Given the description of an element on the screen output the (x, y) to click on. 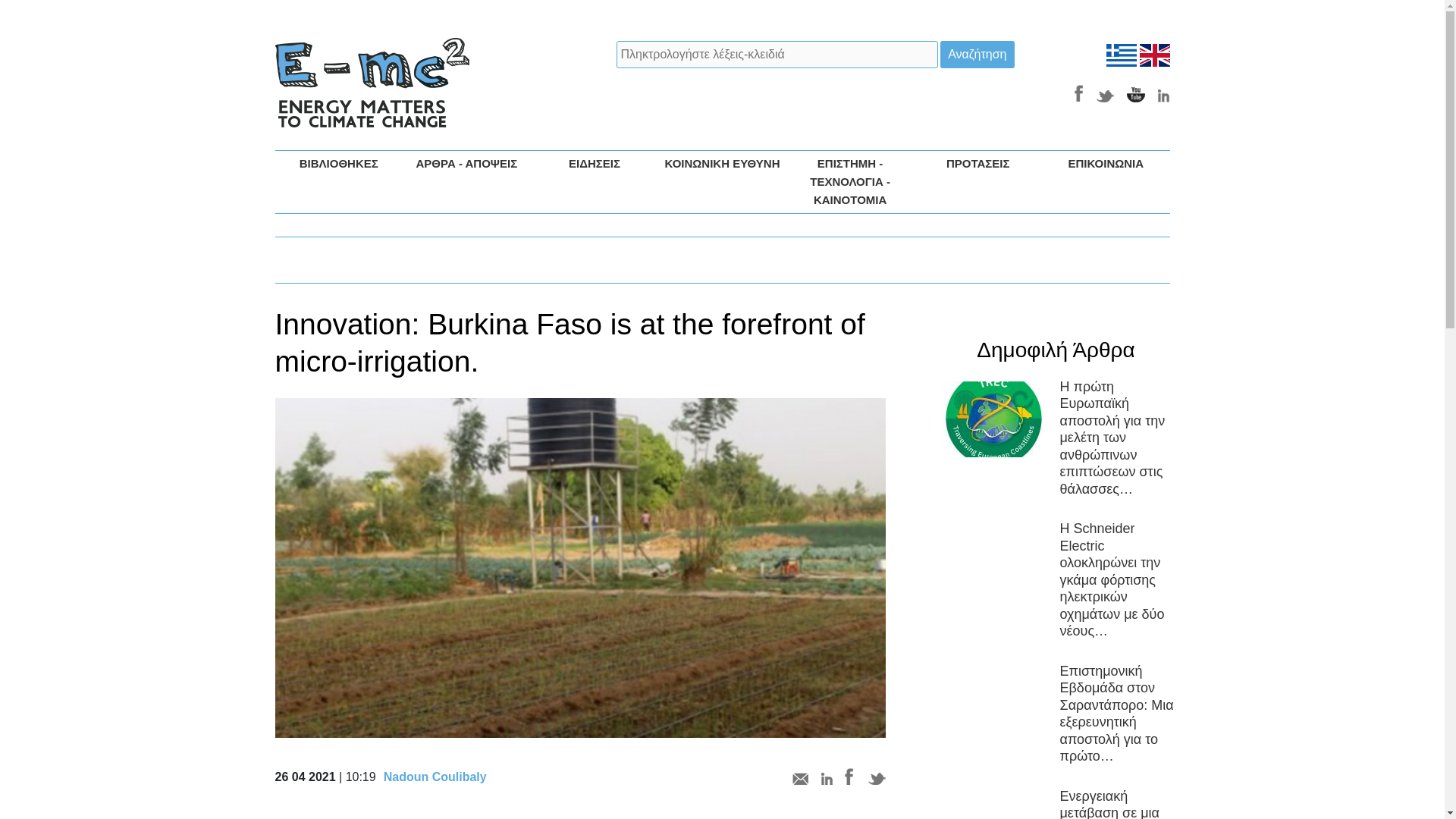
Follow us on Youtube (1135, 93)
Nadoun Coulibaly (435, 776)
Follow us on Twitter (1105, 93)
